Given the description of an element on the screen output the (x, y) to click on. 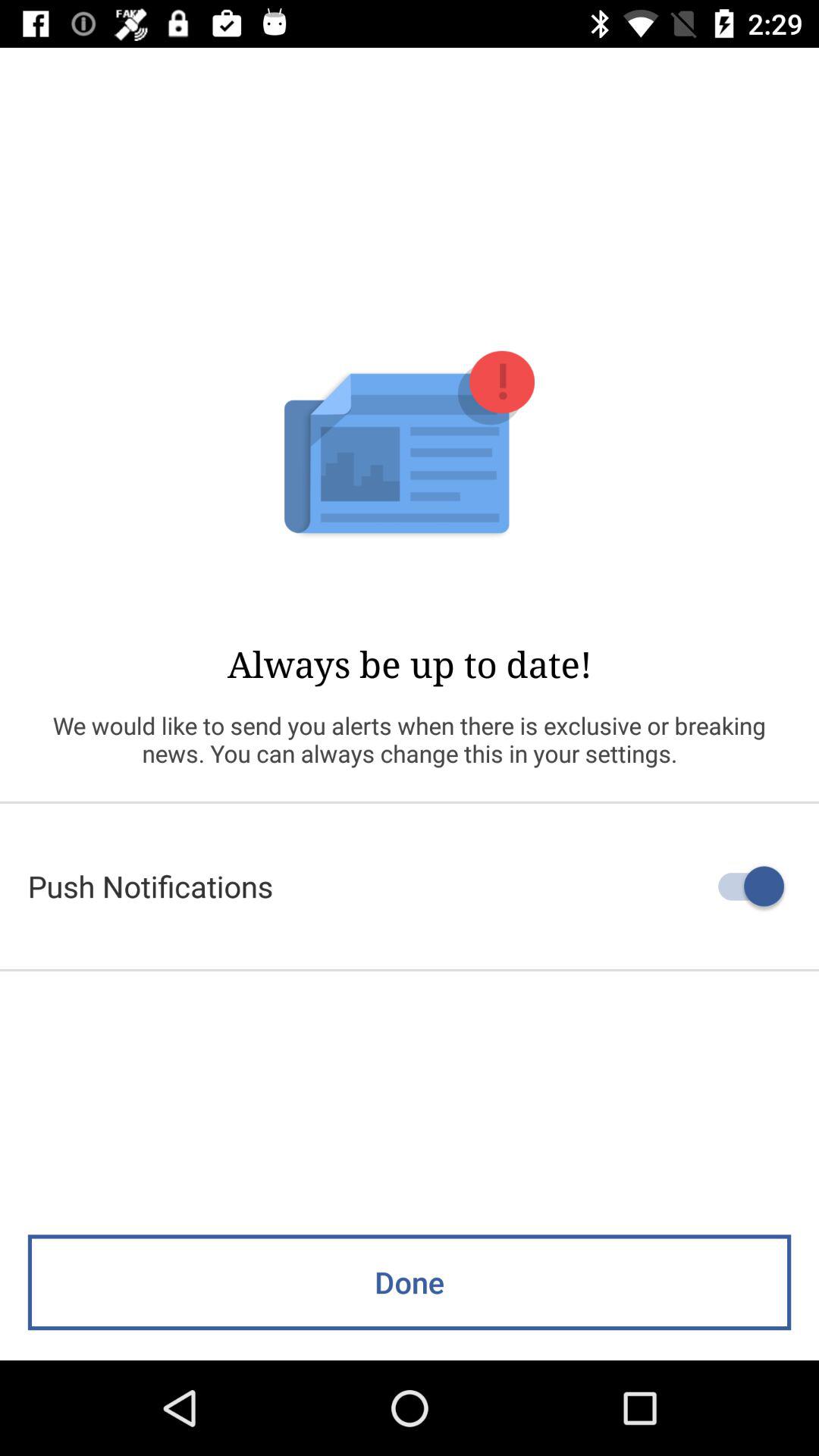
scroll until done item (409, 1282)
